Given the description of an element on the screen output the (x, y) to click on. 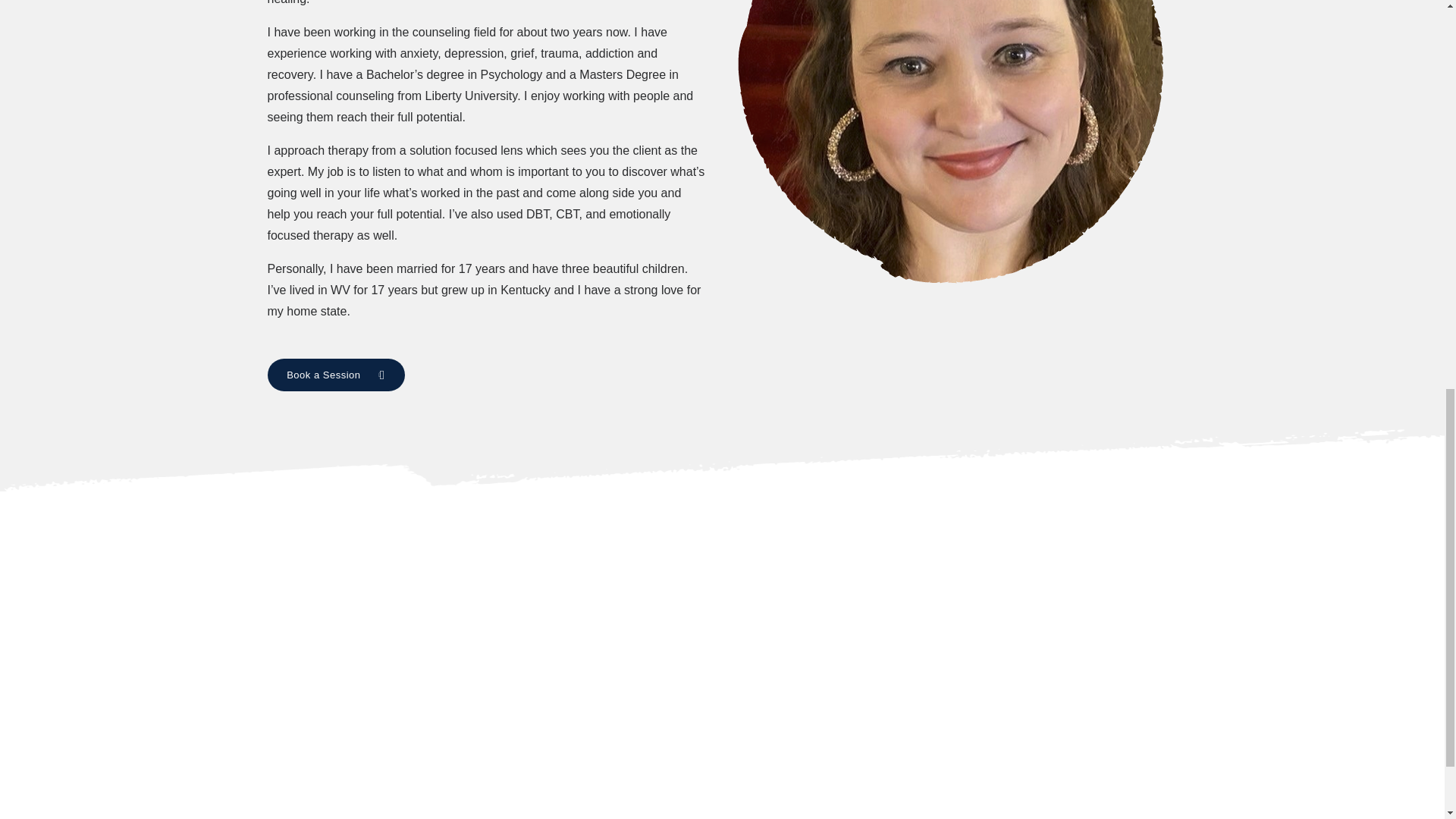
Book a Session (335, 374)
Book a Session (335, 374)
